Given the description of an element on the screen output the (x, y) to click on. 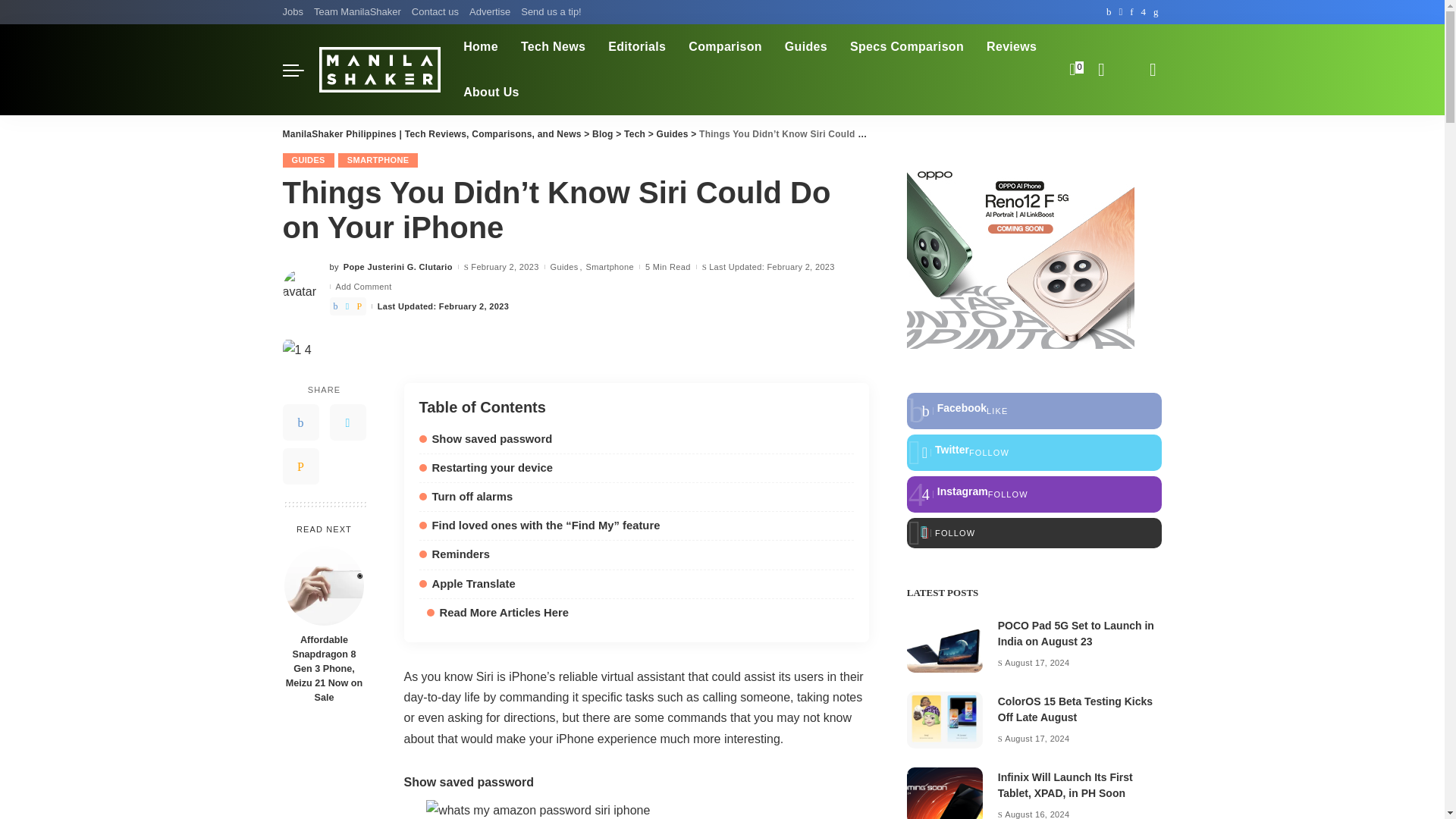
Team ManilaShaker (357, 11)
Home (480, 46)
Advertise (489, 11)
Contact us (435, 11)
Send us a tip! (550, 11)
Tech News (552, 46)
Jobs (294, 11)
